Given the description of an element on the screen output the (x, y) to click on. 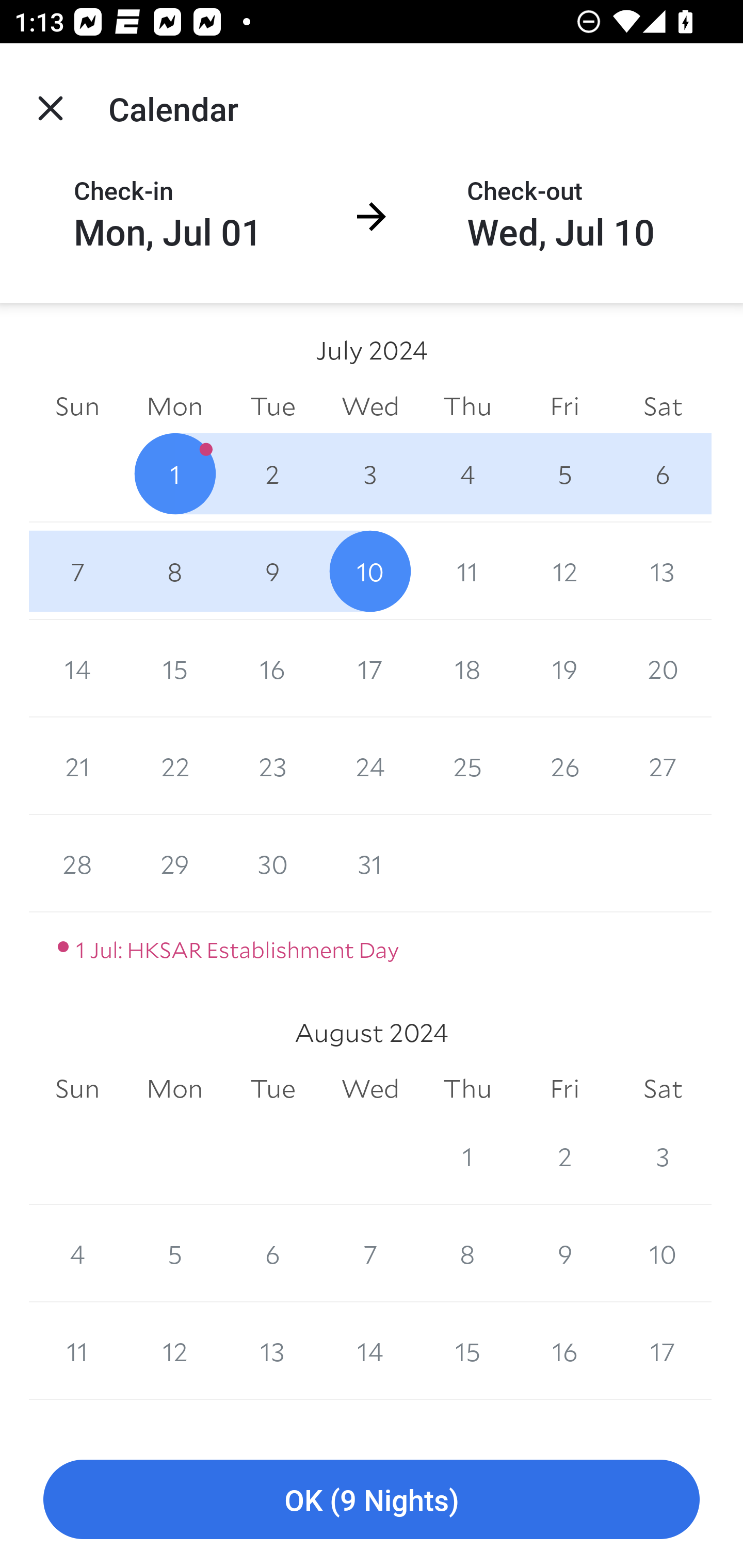
Sun (77, 405)
Mon (174, 405)
Tue (272, 405)
Wed (370, 405)
Thu (467, 405)
Fri (564, 405)
Sat (662, 405)
1 1 July 2024 (174, 473)
2 2 July 2024 (272, 473)
3 3 July 2024 (370, 473)
4 4 July 2024 (467, 473)
5 5 July 2024 (564, 473)
6 6 July 2024 (662, 473)
7 7 July 2024 (77, 570)
8 8 July 2024 (174, 570)
9 9 July 2024 (272, 570)
10 10 July 2024 (370, 570)
11 11 July 2024 (467, 570)
12 12 July 2024 (564, 570)
13 13 July 2024 (662, 570)
14 14 July 2024 (77, 668)
15 15 July 2024 (174, 668)
16 16 July 2024 (272, 668)
17 17 July 2024 (370, 668)
18 18 July 2024 (467, 668)
19 19 July 2024 (564, 668)
20 20 July 2024 (662, 668)
21 21 July 2024 (77, 766)
22 22 July 2024 (174, 766)
23 23 July 2024 (272, 766)
24 24 July 2024 (370, 766)
25 25 July 2024 (467, 766)
26 26 July 2024 (564, 766)
27 27 July 2024 (662, 766)
28 28 July 2024 (77, 863)
29 29 July 2024 (174, 863)
30 30 July 2024 (272, 863)
31 31 July 2024 (370, 863)
Sun (77, 1088)
Mon (174, 1088)
Tue (272, 1088)
Wed (370, 1088)
Thu (467, 1088)
Fri (564, 1088)
Sat (662, 1088)
1 1 August 2024 (467, 1155)
2 2 August 2024 (564, 1155)
3 3 August 2024 (662, 1155)
4 4 August 2024 (77, 1253)
5 5 August 2024 (174, 1253)
6 6 August 2024 (272, 1253)
7 7 August 2024 (370, 1253)
8 8 August 2024 (467, 1253)
9 9 August 2024 (564, 1253)
10 10 August 2024 (662, 1253)
11 11 August 2024 (77, 1351)
12 12 August 2024 (174, 1351)
13 13 August 2024 (272, 1351)
14 14 August 2024 (370, 1351)
15 15 August 2024 (467, 1351)
16 16 August 2024 (564, 1351)
17 17 August 2024 (662, 1351)
OK (9 Nights) (371, 1499)
